Given the description of an element on the screen output the (x, y) to click on. 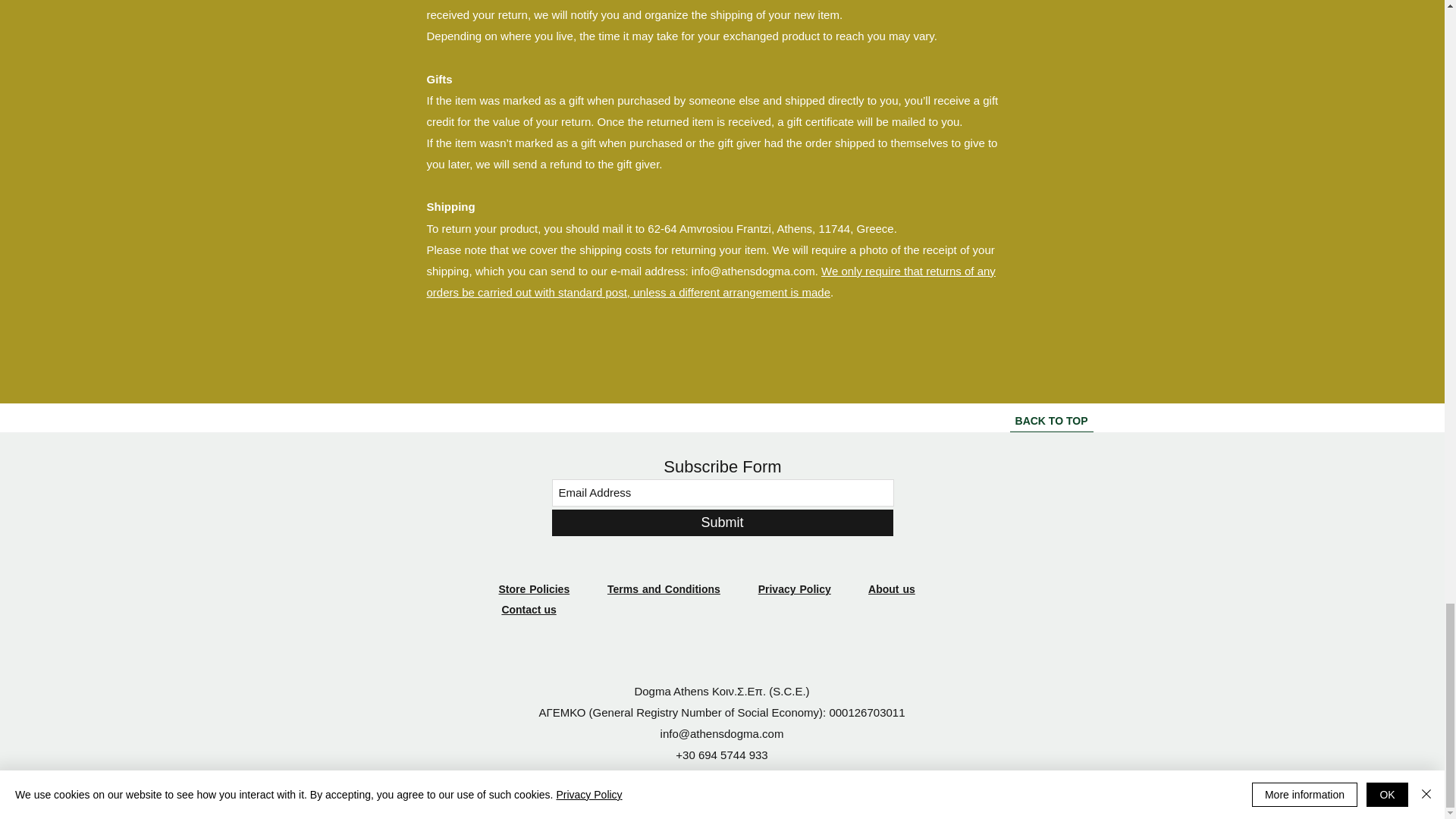
BACK TO TOP (1051, 420)
Submit (722, 522)
Privacy Policy (794, 589)
Contact us (528, 609)
Store Policies (534, 589)
About us (891, 589)
Terms and Conditions (663, 589)
